Given the description of an element on the screen output the (x, y) to click on. 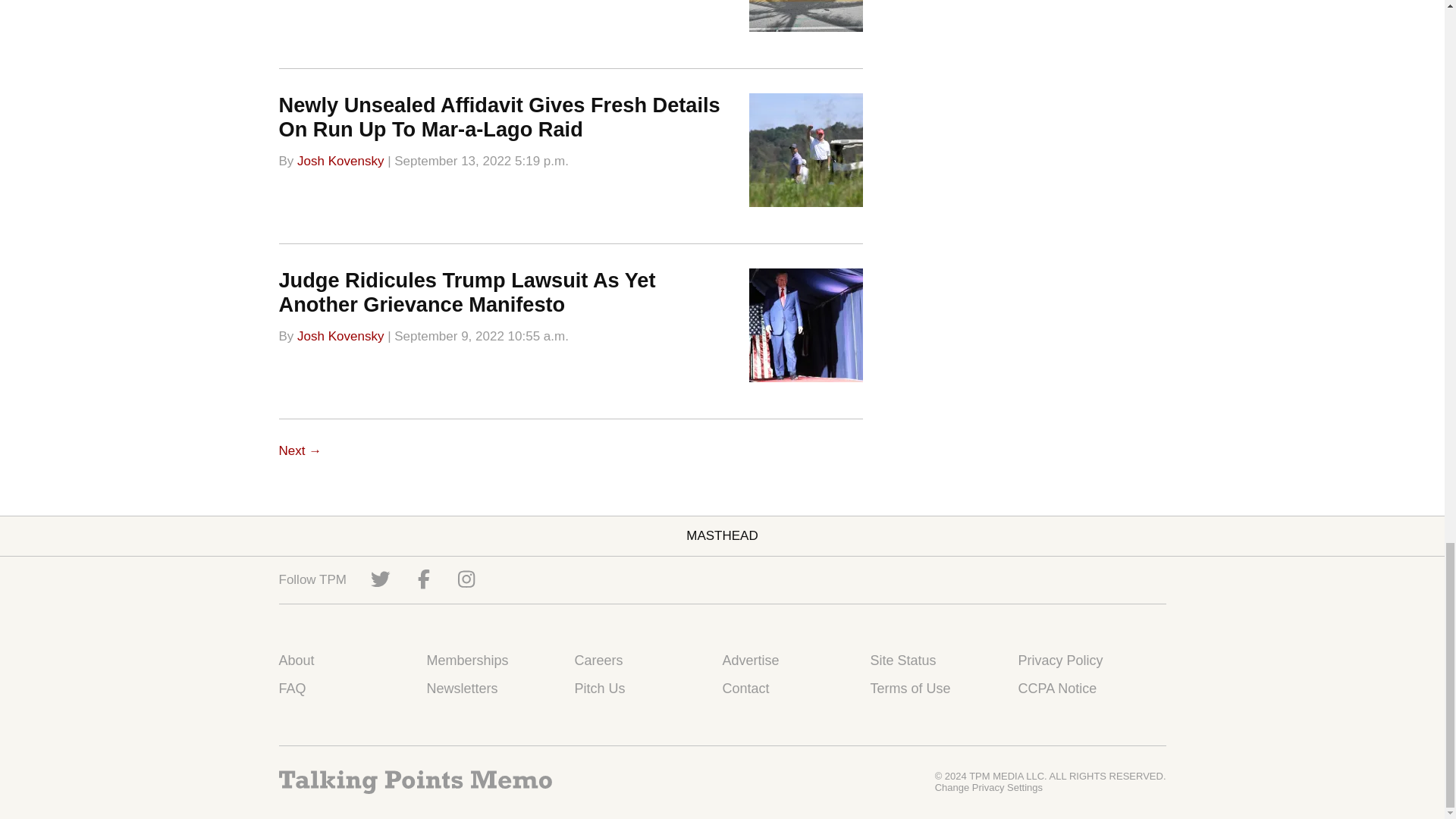
Posts by Josh Kovensky (340, 336)
Posts by Josh Kovensky (340, 160)
twitter (380, 578)
